Given the description of an element on the screen output the (x, y) to click on. 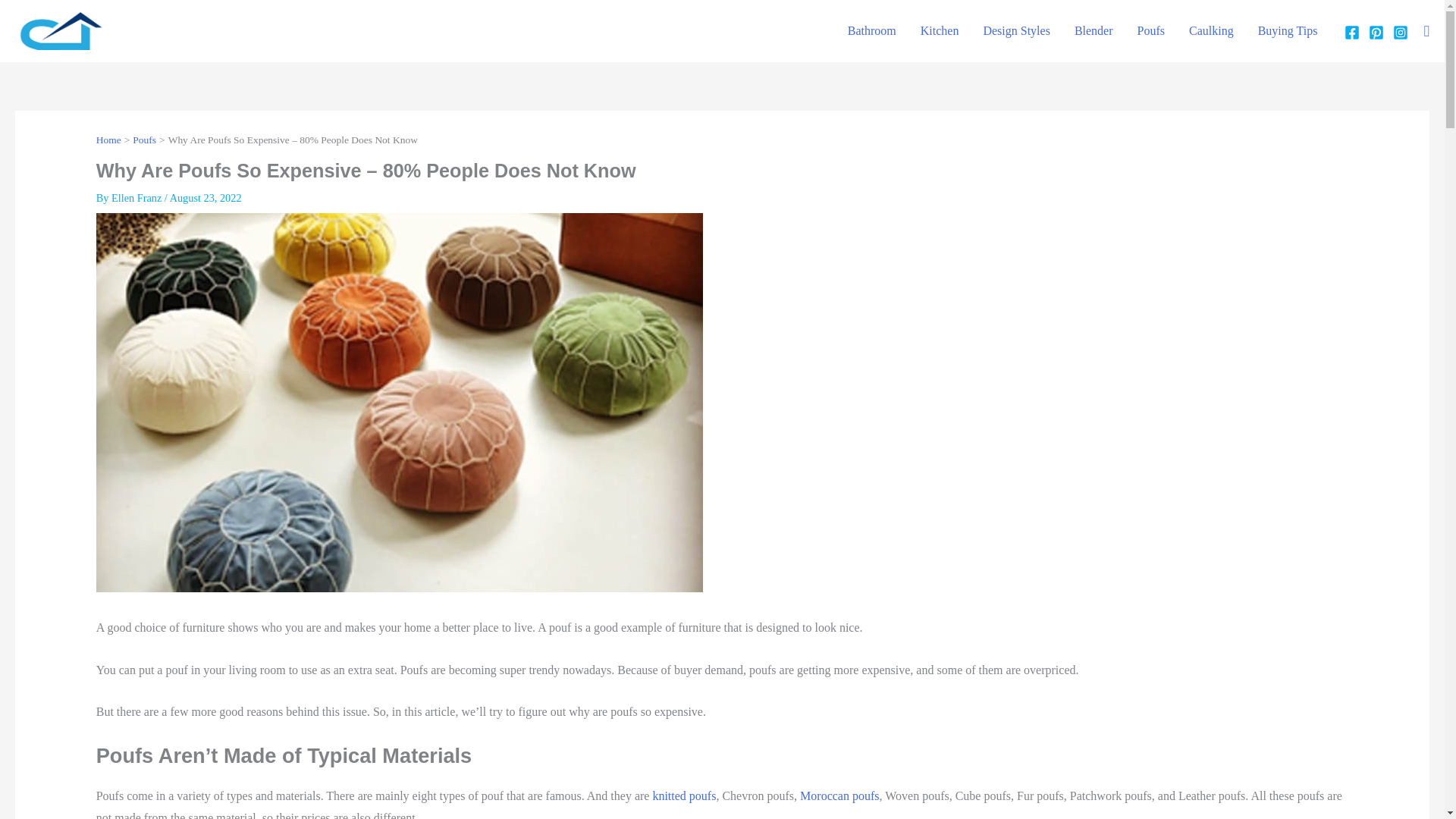
Poufs (143, 139)
Moroccan poufs (839, 795)
Blender (1093, 30)
Ellen Franz (138, 197)
View all posts by Ellen Franz (138, 197)
Caulking (1211, 30)
Buying Tips (1288, 30)
Design Styles (1016, 30)
knitted poufs (684, 795)
Home (108, 139)
